Given the description of an element on the screen output the (x, y) to click on. 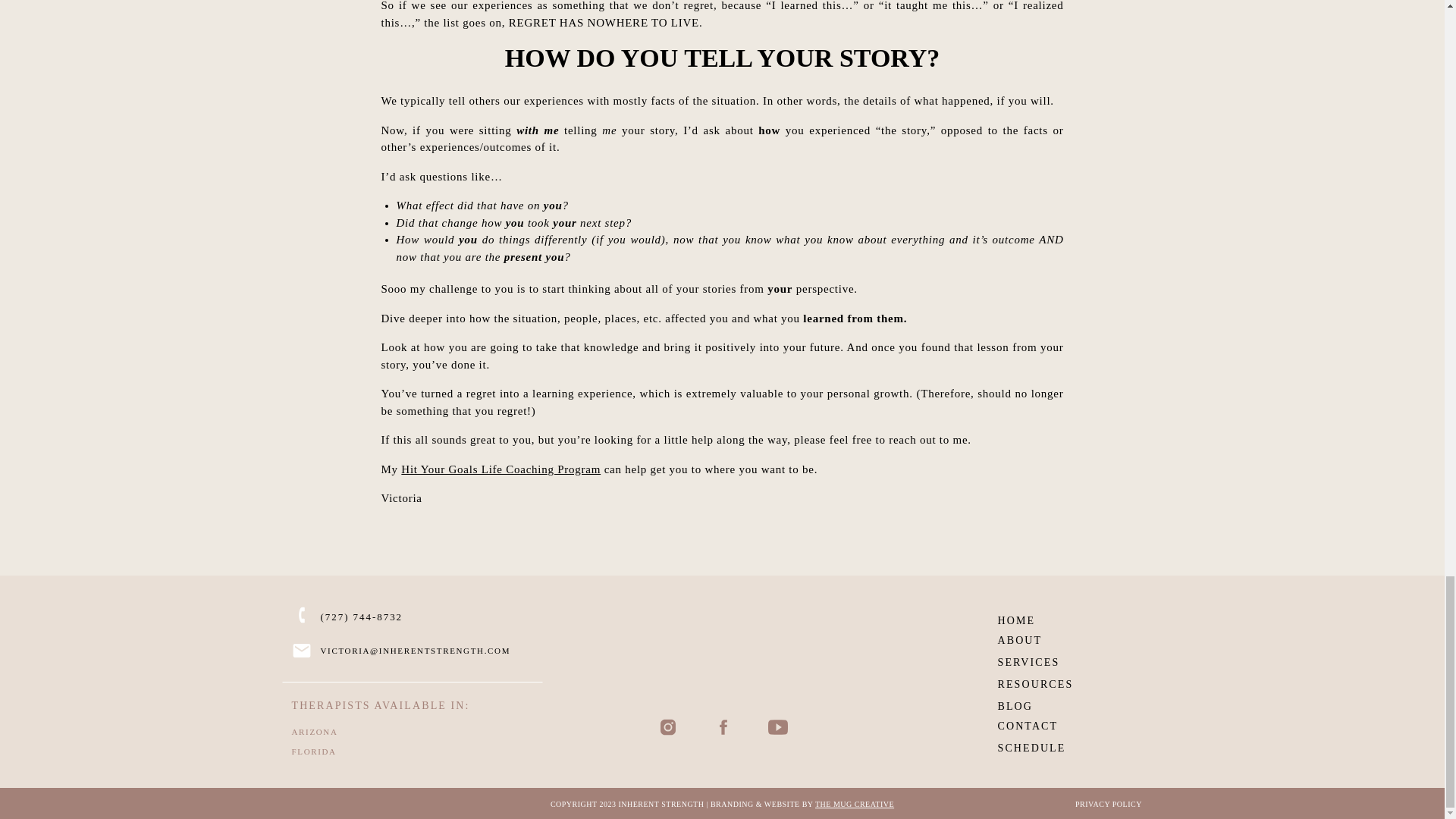
THE MUG CREATIVE (854, 804)
HOME (1034, 617)
SCHEDULE (1043, 745)
PRIVACY POLICY (1108, 803)
ABOUT (1034, 637)
THERAPISTS AVAILABLE IN: (411, 703)
Hit Your Goals Life Coaching Program (500, 469)
RESOURCES (1043, 681)
CONTACT (1034, 723)
SERVICES (1034, 659)
BLOG (1043, 703)
